Given the description of an element on the screen output the (x, y) to click on. 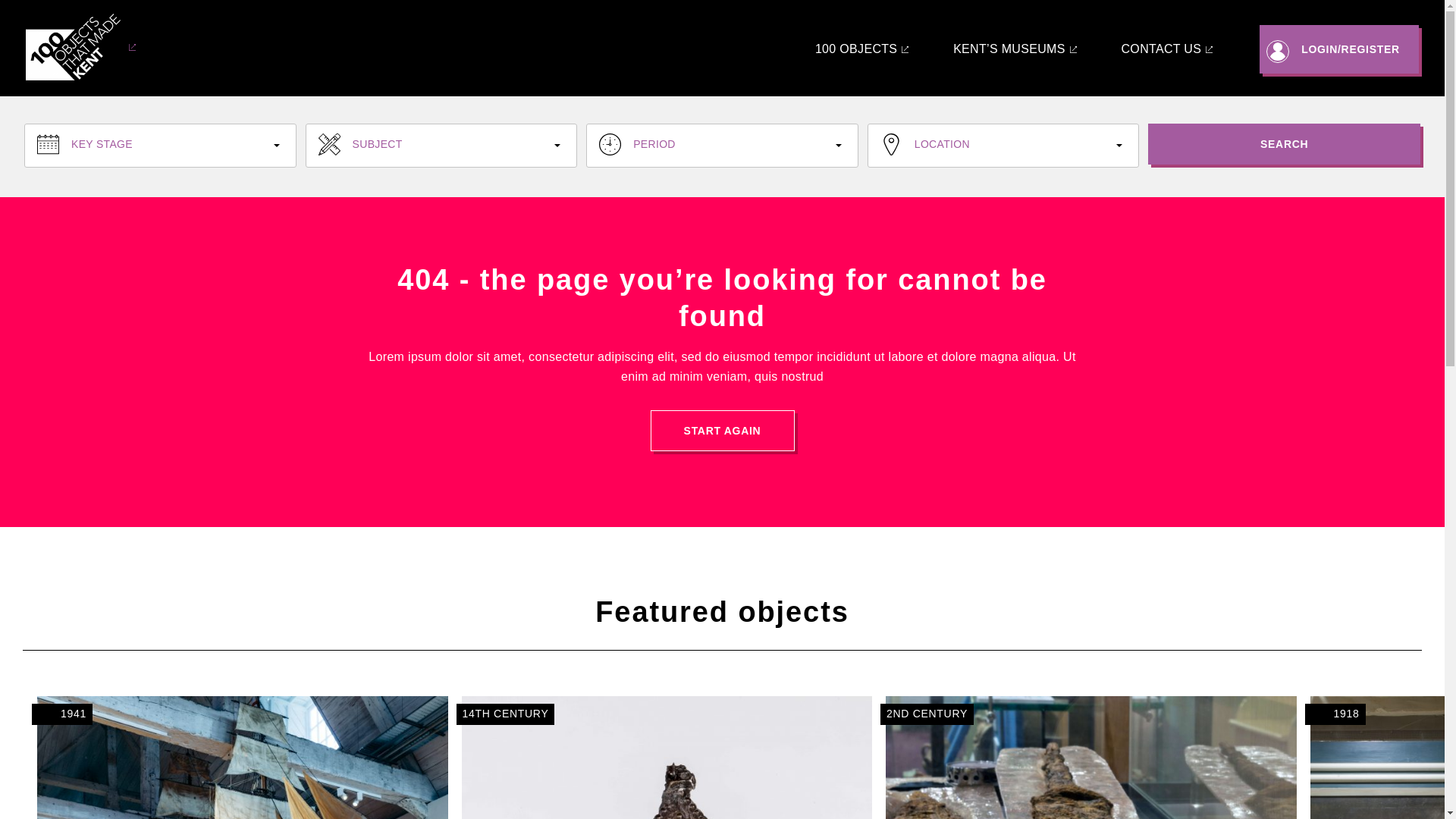
100 OBJECTS (861, 49)
START AGAIN (1091, 757)
SEARCH (722, 430)
CONTACT US (666, 757)
